Given the description of an element on the screen output the (x, y) to click on. 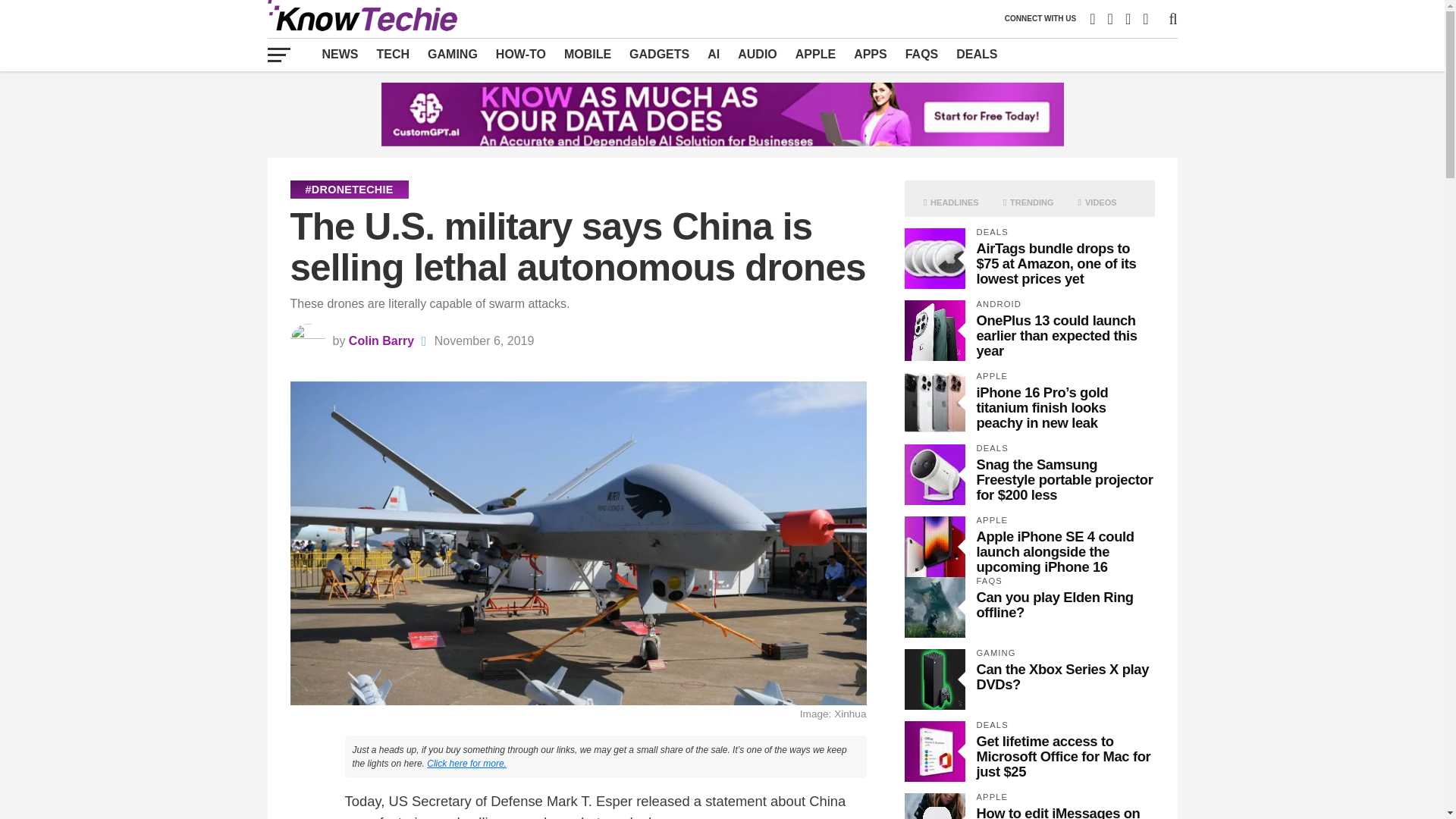
FAQS (921, 54)
MOBILE (587, 54)
Posts by Colin Barry (381, 340)
Colin Barry (381, 340)
NEWS (339, 54)
GADGETS (659, 54)
APPS (870, 54)
HOW-TO (520, 54)
AI (713, 54)
TECH (392, 54)
